Given the description of an element on the screen output the (x, y) to click on. 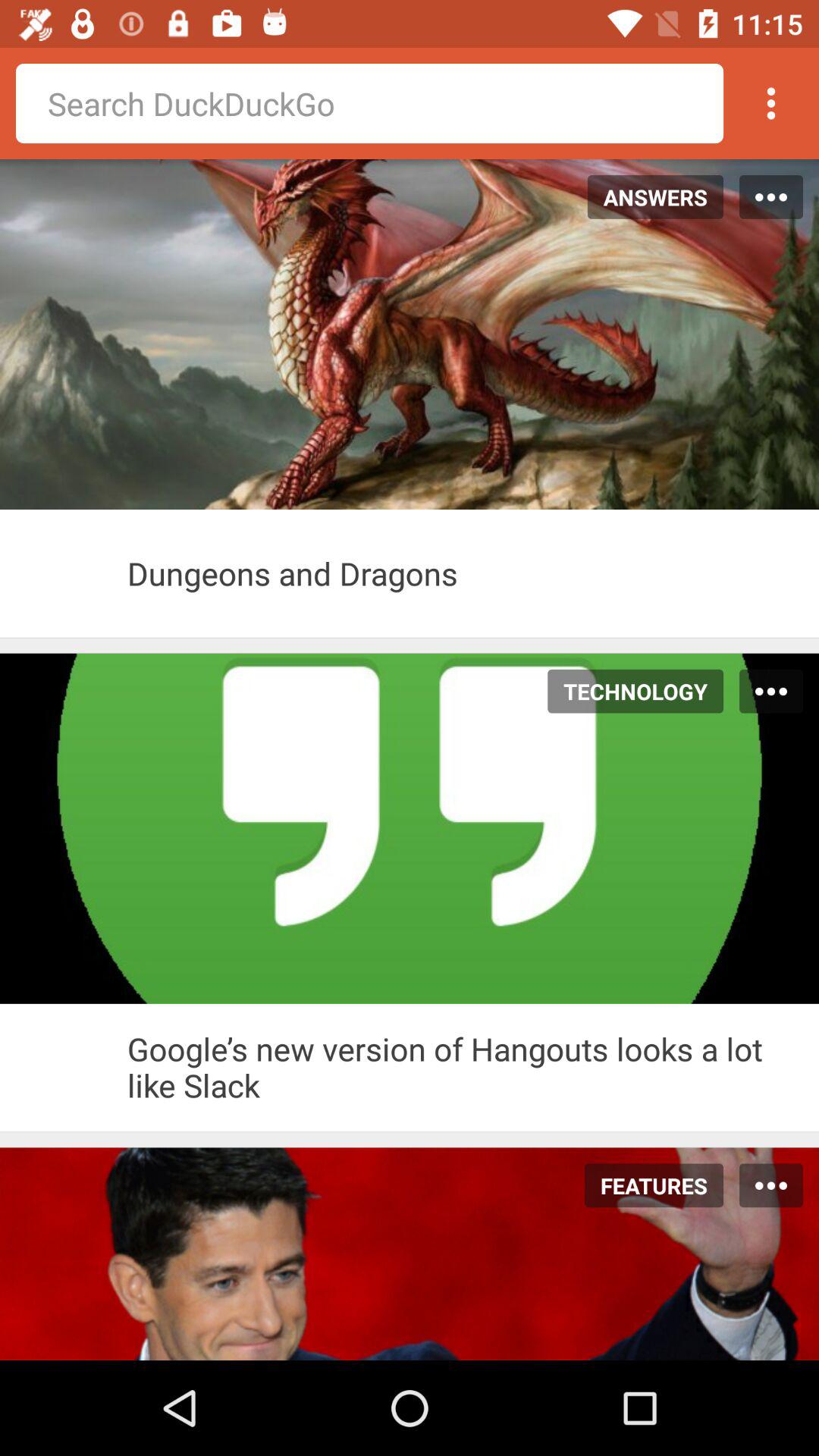
click on the answers (647, 196)
click on button right to answers at top right (771, 196)
click on the icon at right side of the search bar (771, 103)
select features (645, 1185)
click on search (369, 103)
